Given the description of an element on the screen output the (x, y) to click on. 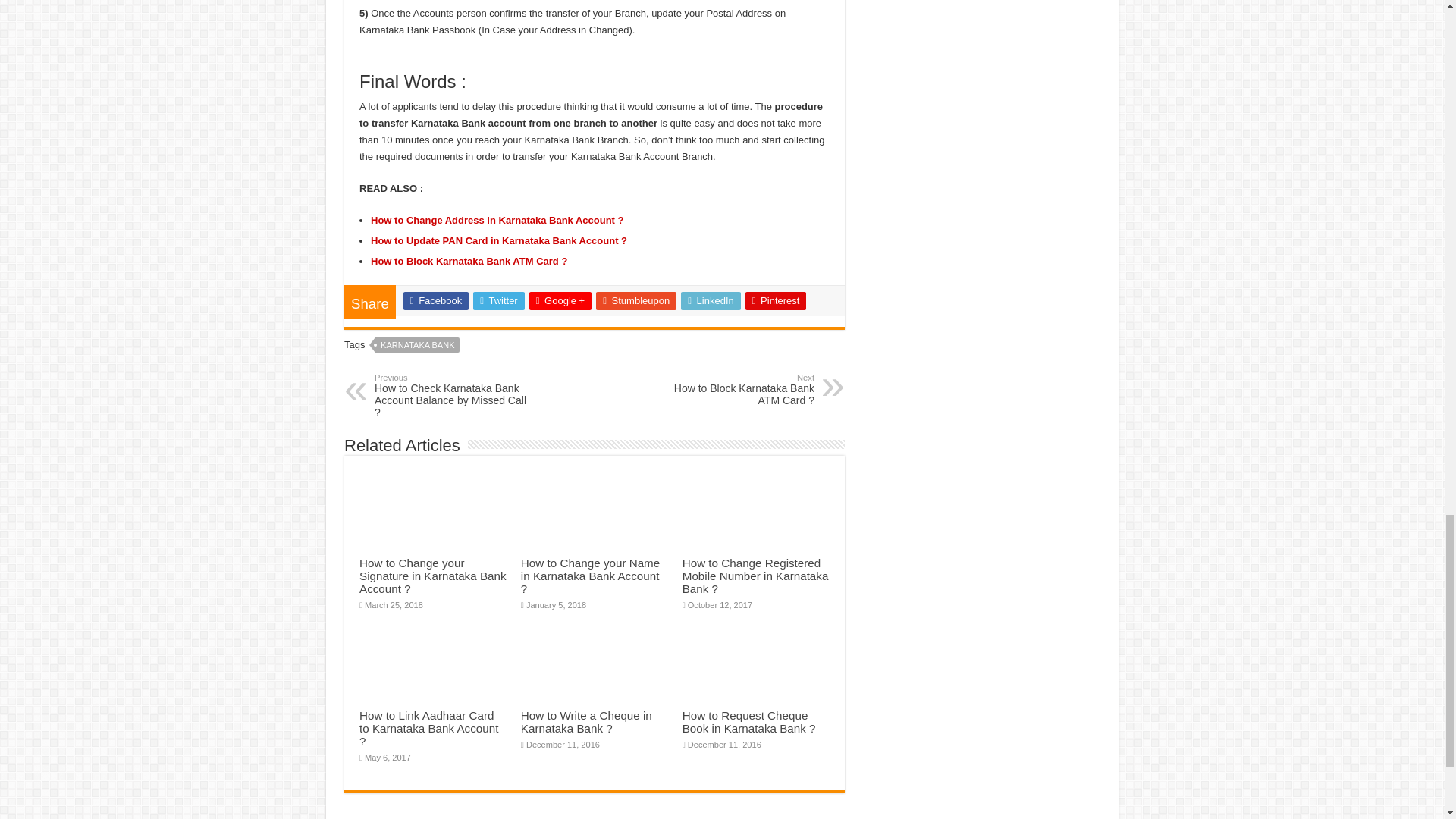
Stumbleupon (636, 300)
Twitter (498, 300)
Facebook (435, 300)
How to Update PAN Card in Karnataka Bank Account ? (499, 240)
How to Block Karnataka Bank ATM Card ? (469, 260)
How to Change Address in Karnataka Bank Account ? (497, 220)
